Given the description of an element on the screen output the (x, y) to click on. 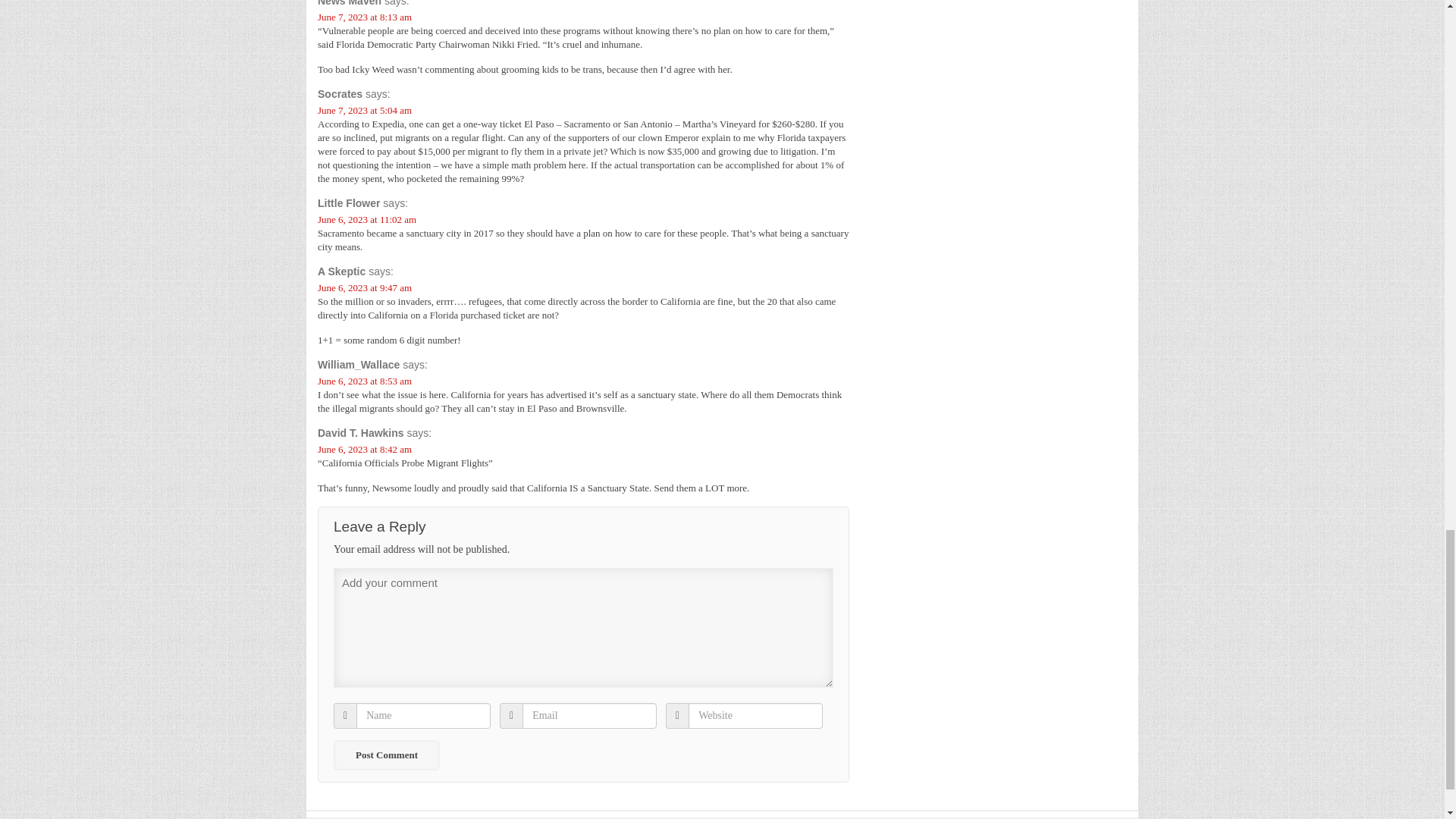
Post Comment (386, 755)
